Given the description of an element on the screen output the (x, y) to click on. 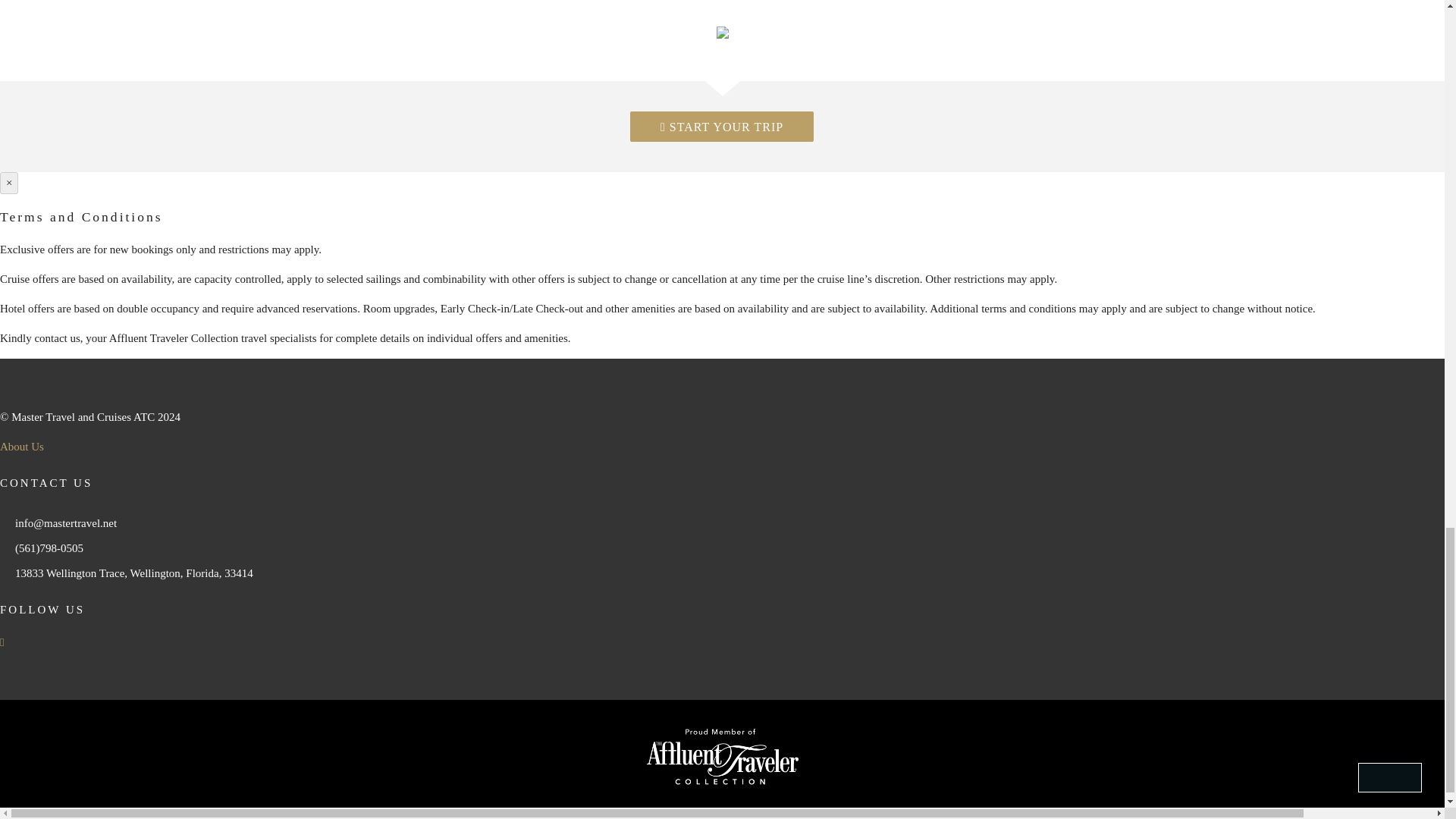
START YOUR TRIP (721, 126)
About Us (21, 446)
